Given the description of an element on the screen output the (x, y) to click on. 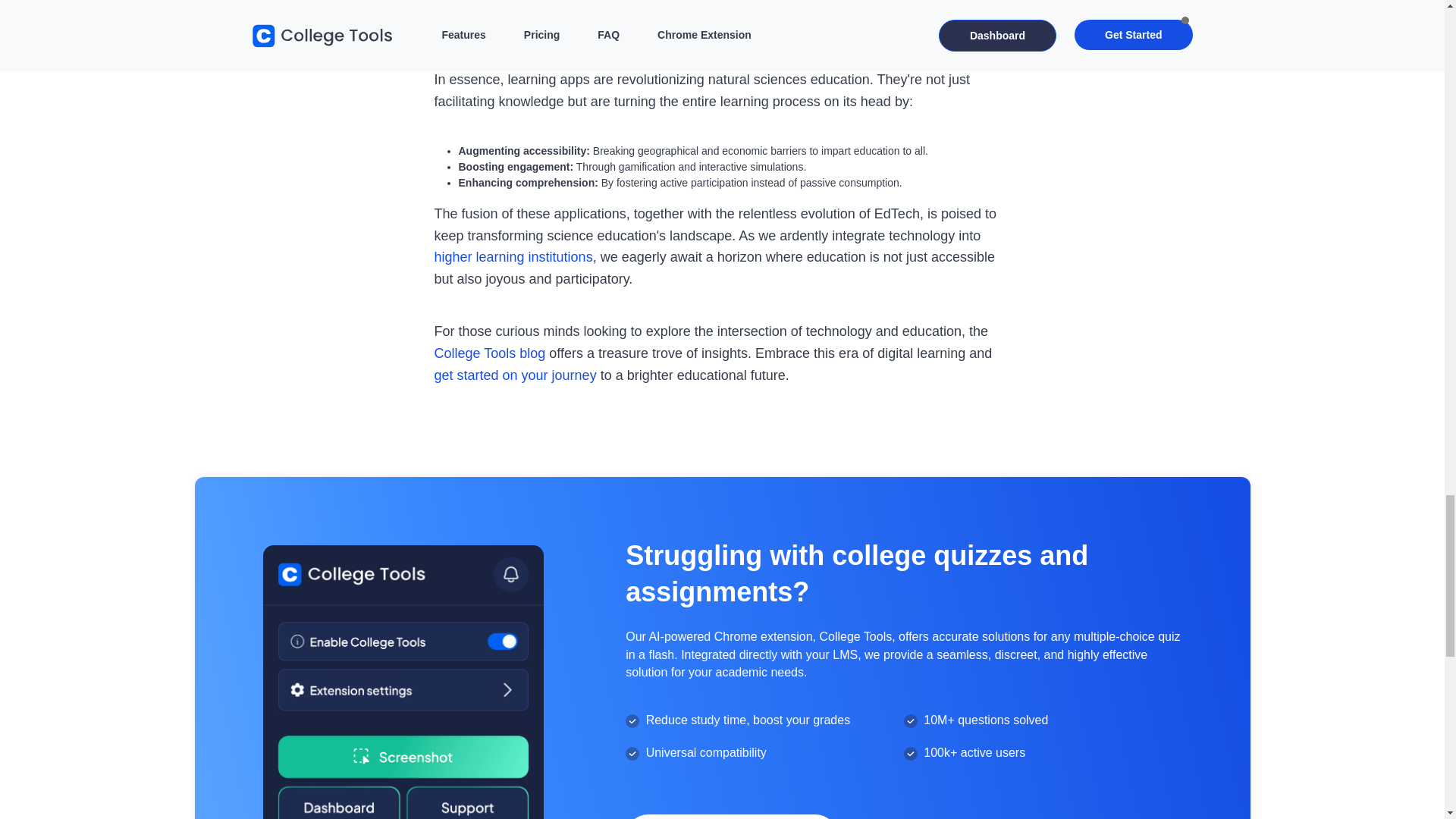
get started on your journey (514, 375)
College Tools blog (488, 353)
Get Started (732, 816)
higher learning institutions (512, 256)
